Given the description of an element on the screen output the (x, y) to click on. 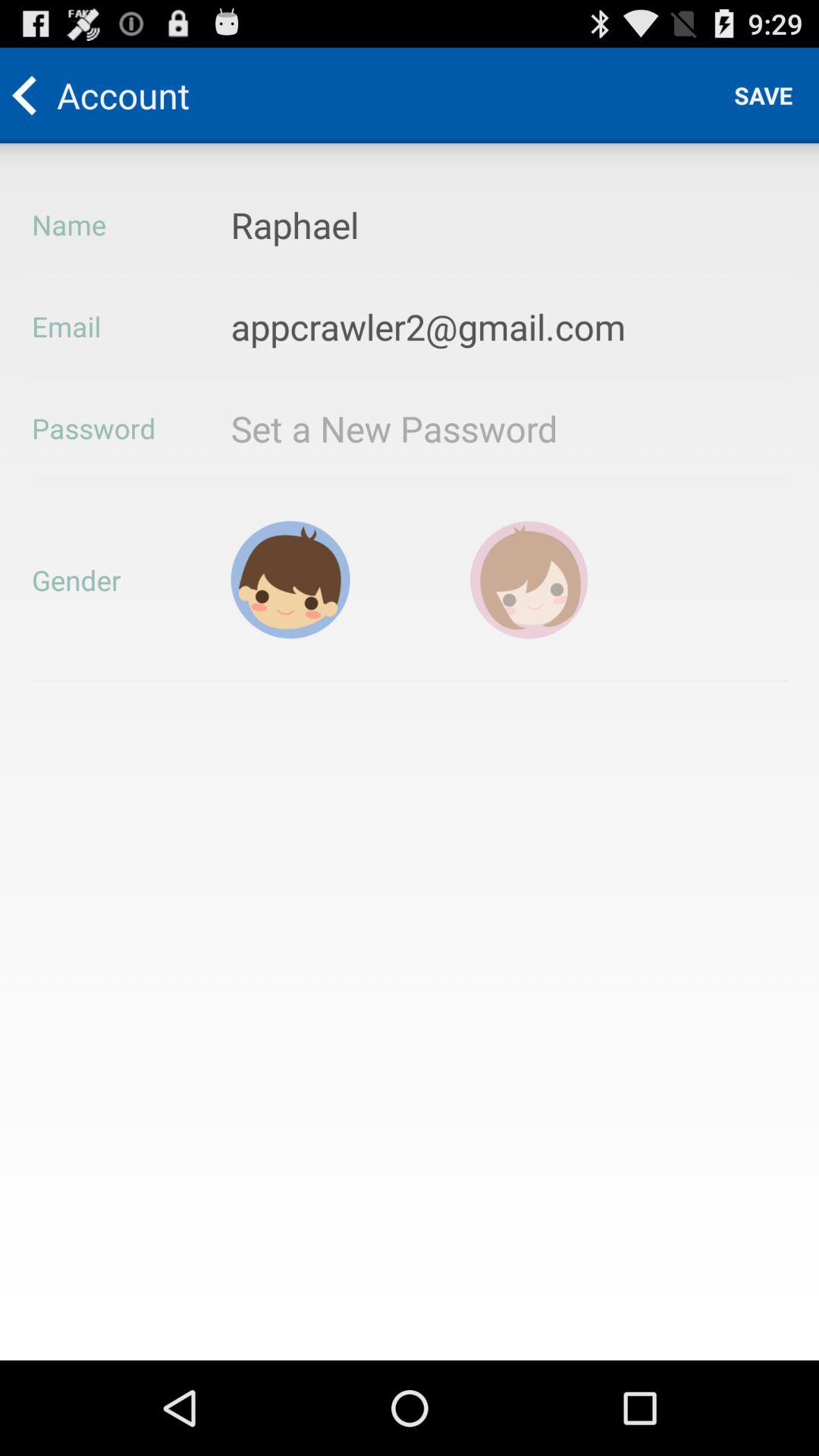
small picture for male gender (290, 579)
